Given the description of an element on the screen output the (x, y) to click on. 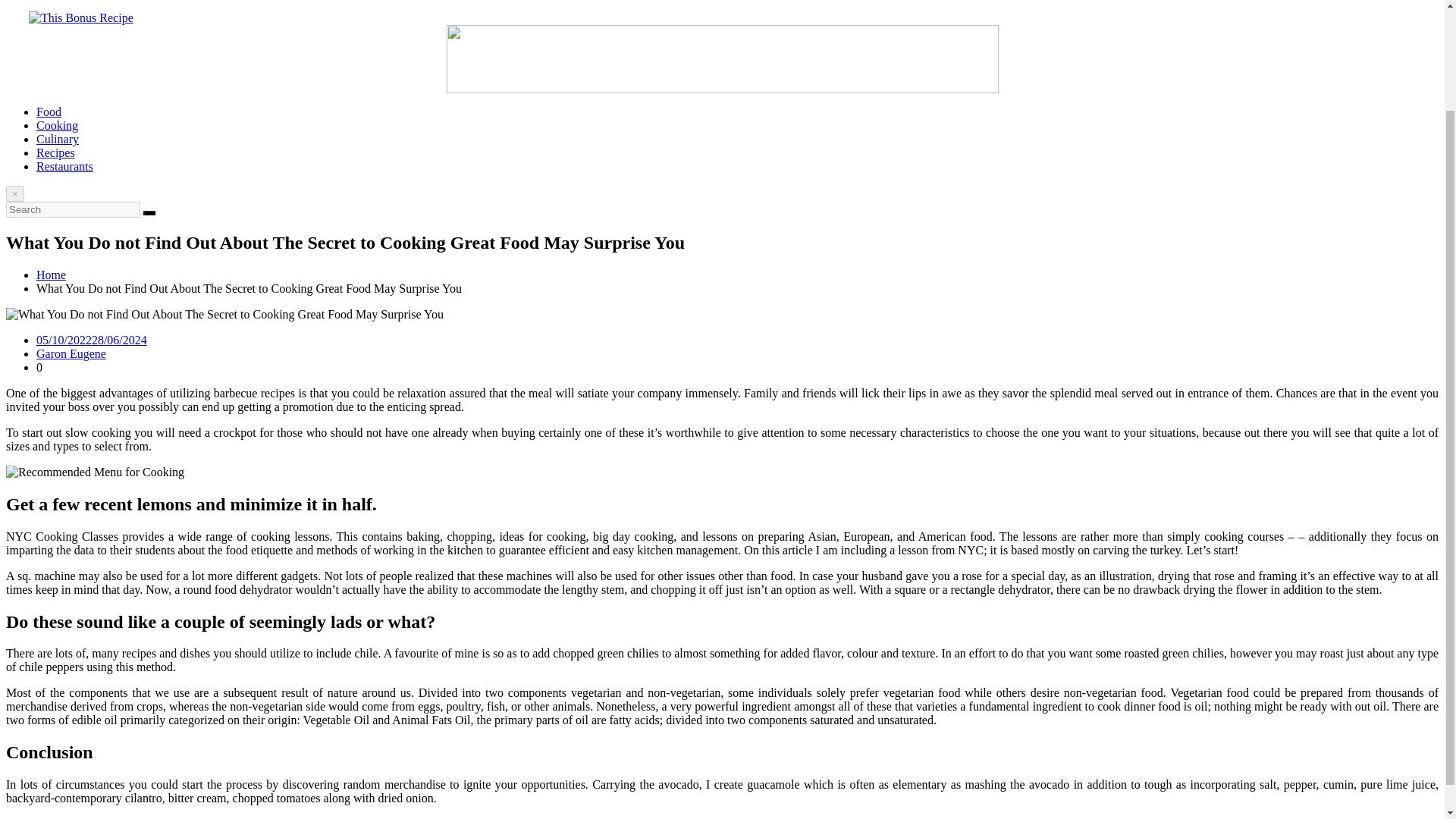
Garon Eugene (71, 353)
Home (50, 274)
Food (48, 111)
Cooking (57, 124)
Restaurants (64, 165)
Recipes (55, 152)
Culinary (57, 138)
Search (148, 212)
